Given the description of an element on the screen output the (x, y) to click on. 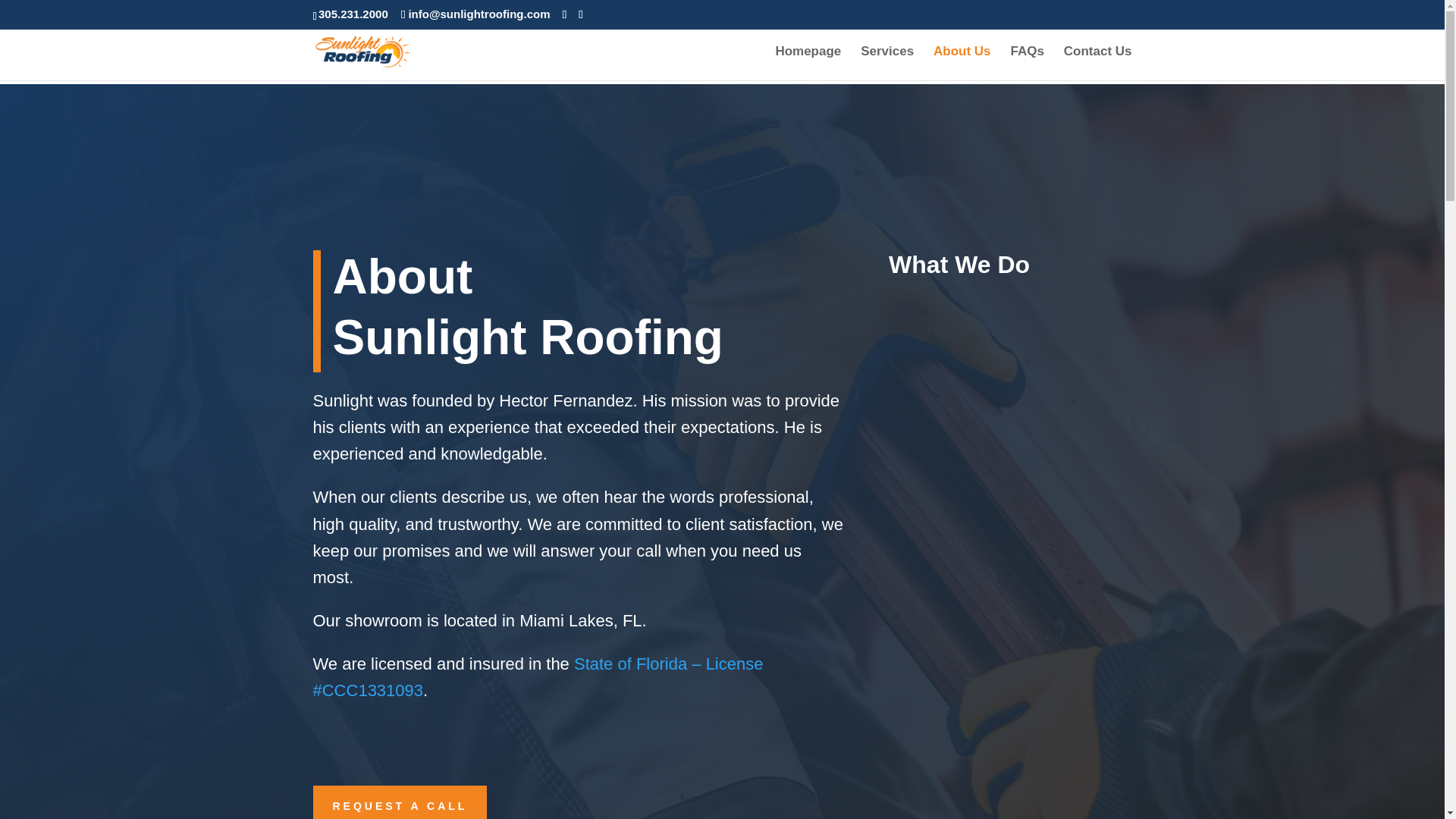
FAQs (1026, 62)
Homepage (807, 62)
Services (887, 62)
About Us (962, 62)
REQUEST A CALL (399, 802)
Contact Us (1098, 62)
